Given the description of an element on the screen output the (x, y) to click on. 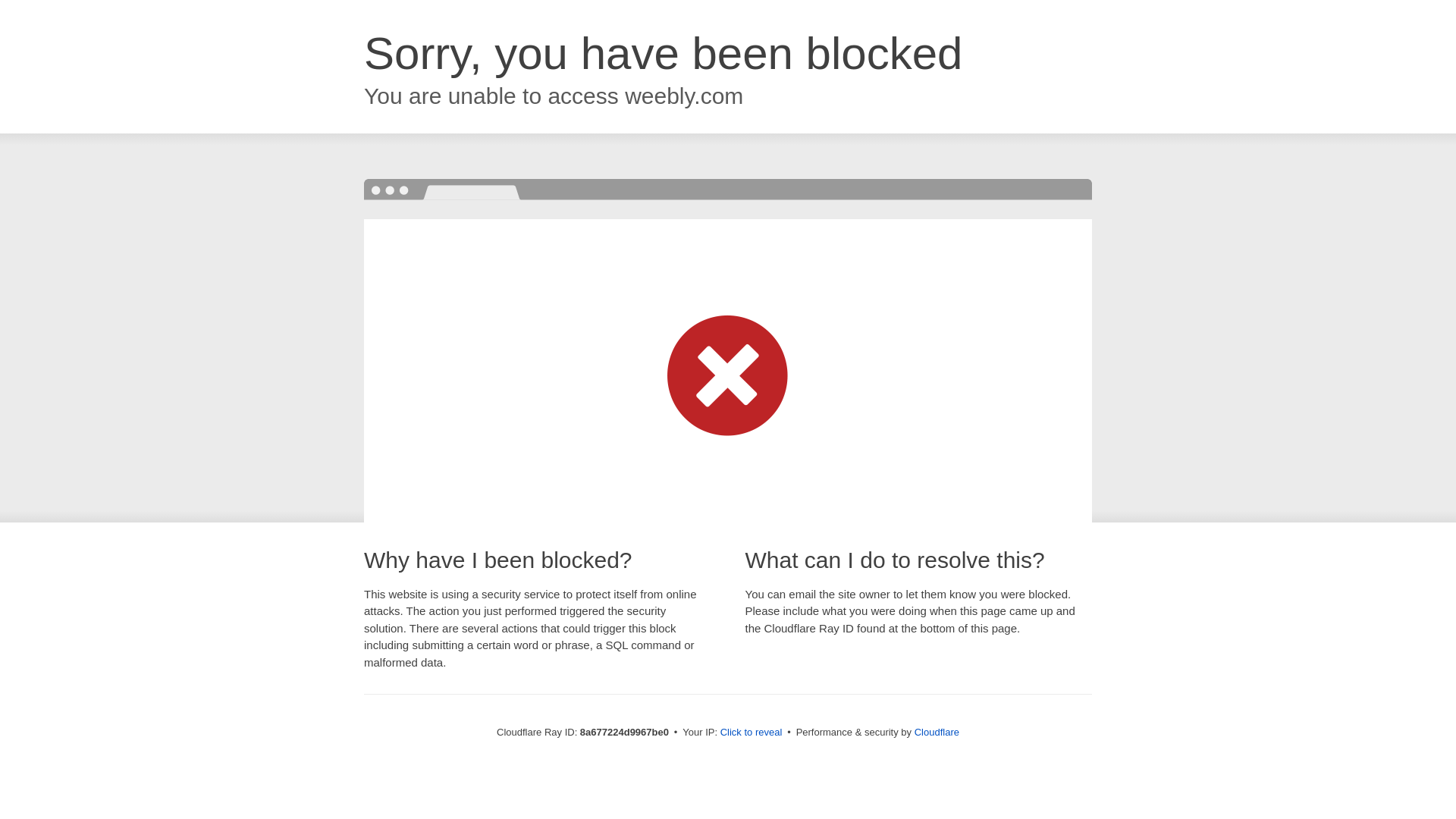
Cloudflare (936, 731)
Click to reveal (751, 732)
